Given the description of an element on the screen output the (x, y) to click on. 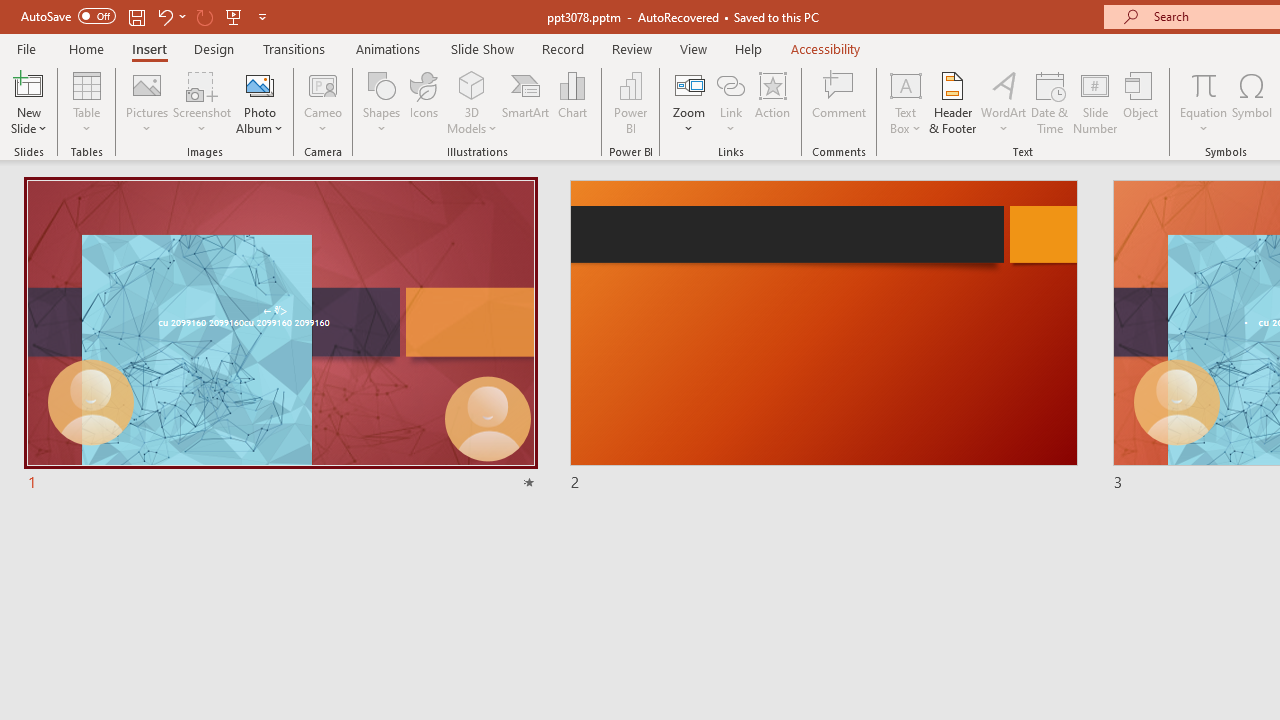
Action (772, 102)
Link (731, 84)
Equation (1203, 84)
